Given the description of an element on the screen output the (x, y) to click on. 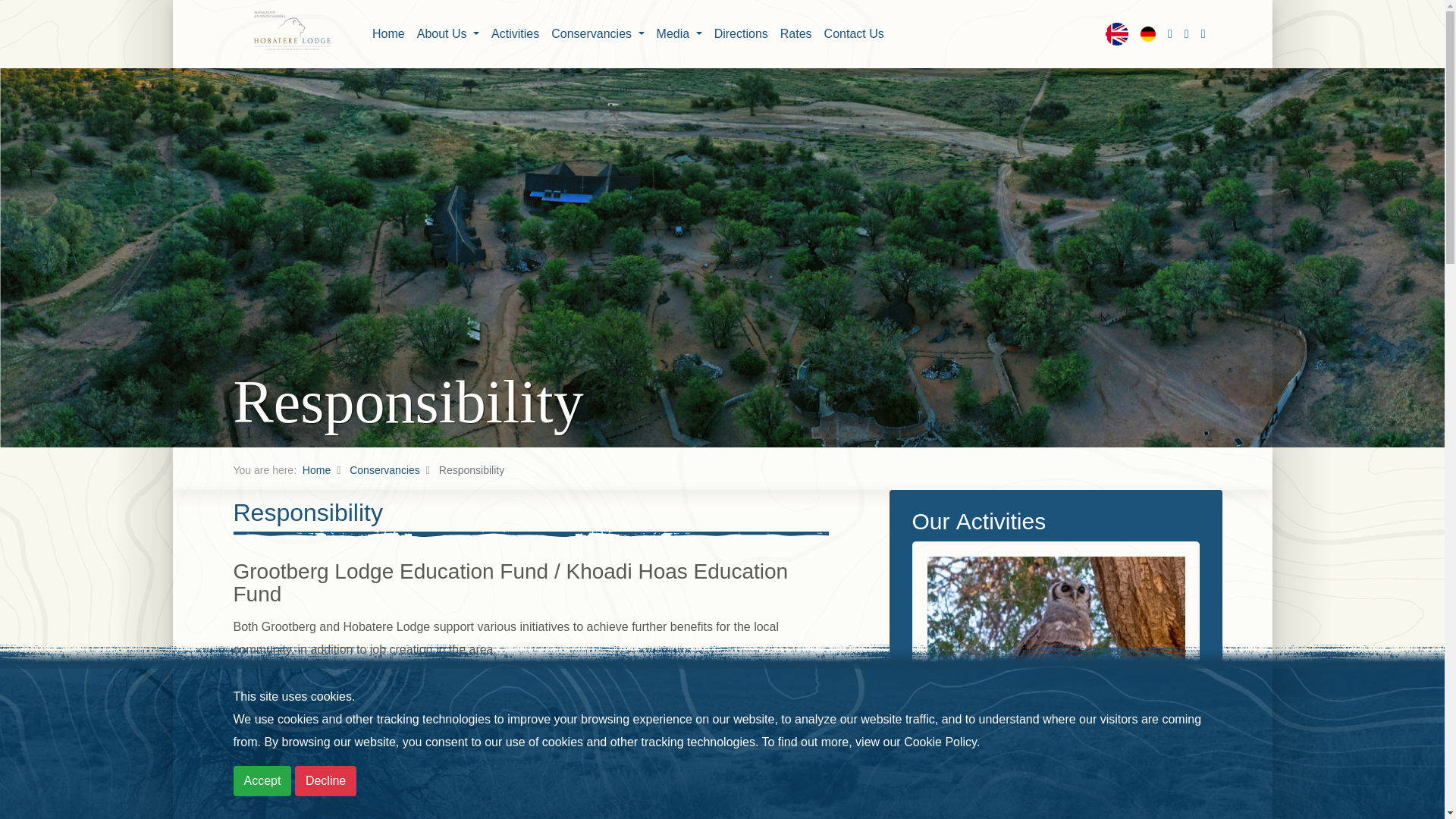
Conservancies (596, 33)
Hobatere Lodge Night Drives (1055, 628)
Activities (514, 33)
English (1116, 34)
Directions (740, 33)
Conservancies (384, 469)
Home (316, 469)
Media (678, 33)
Contact Us (853, 33)
Rates (796, 33)
About Us (447, 33)
Home (388, 33)
